Given the description of an element on the screen output the (x, y) to click on. 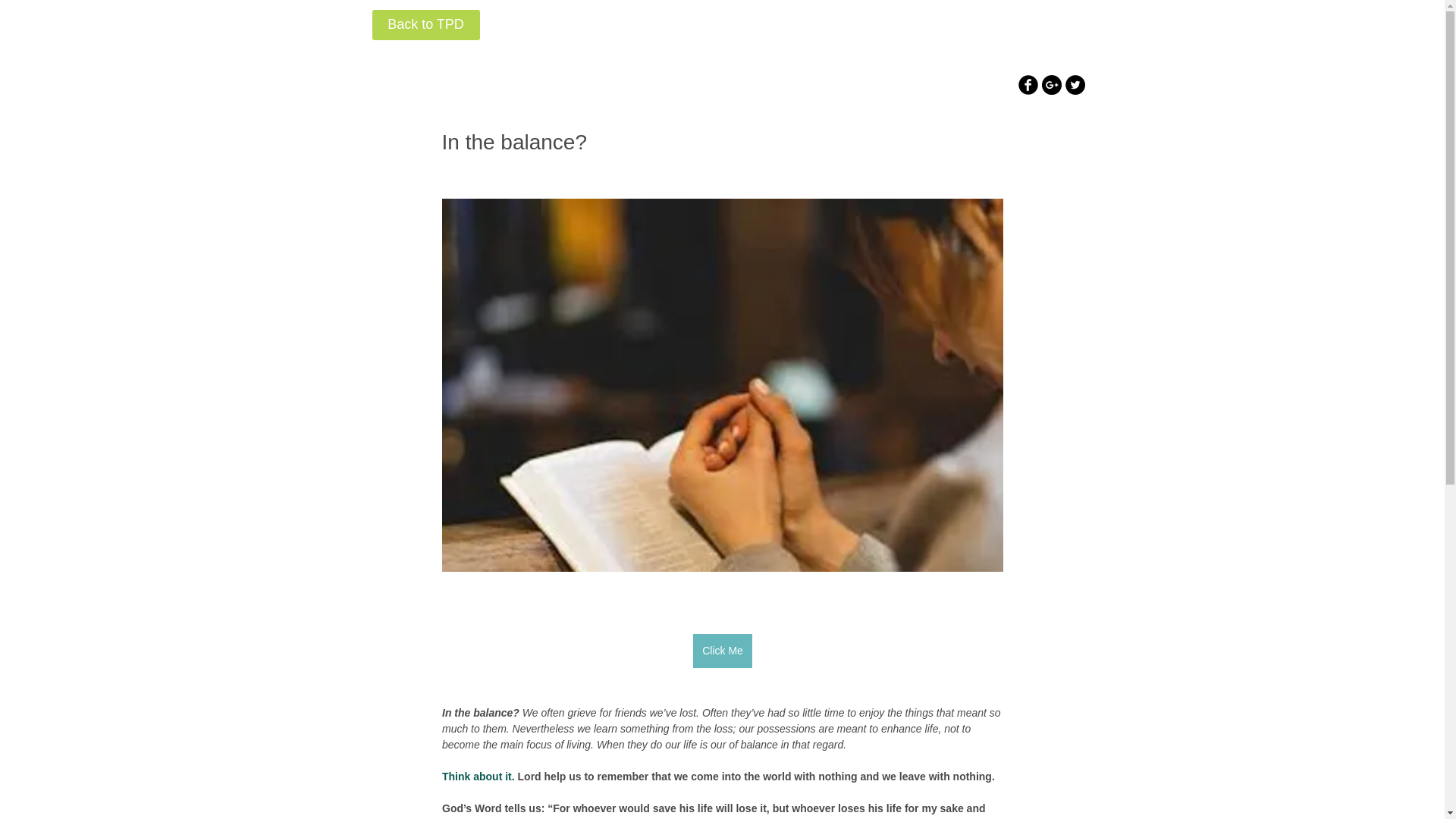
Click Me (722, 635)
Click Me (722, 650)
